Given the description of an element on the screen output the (x, y) to click on. 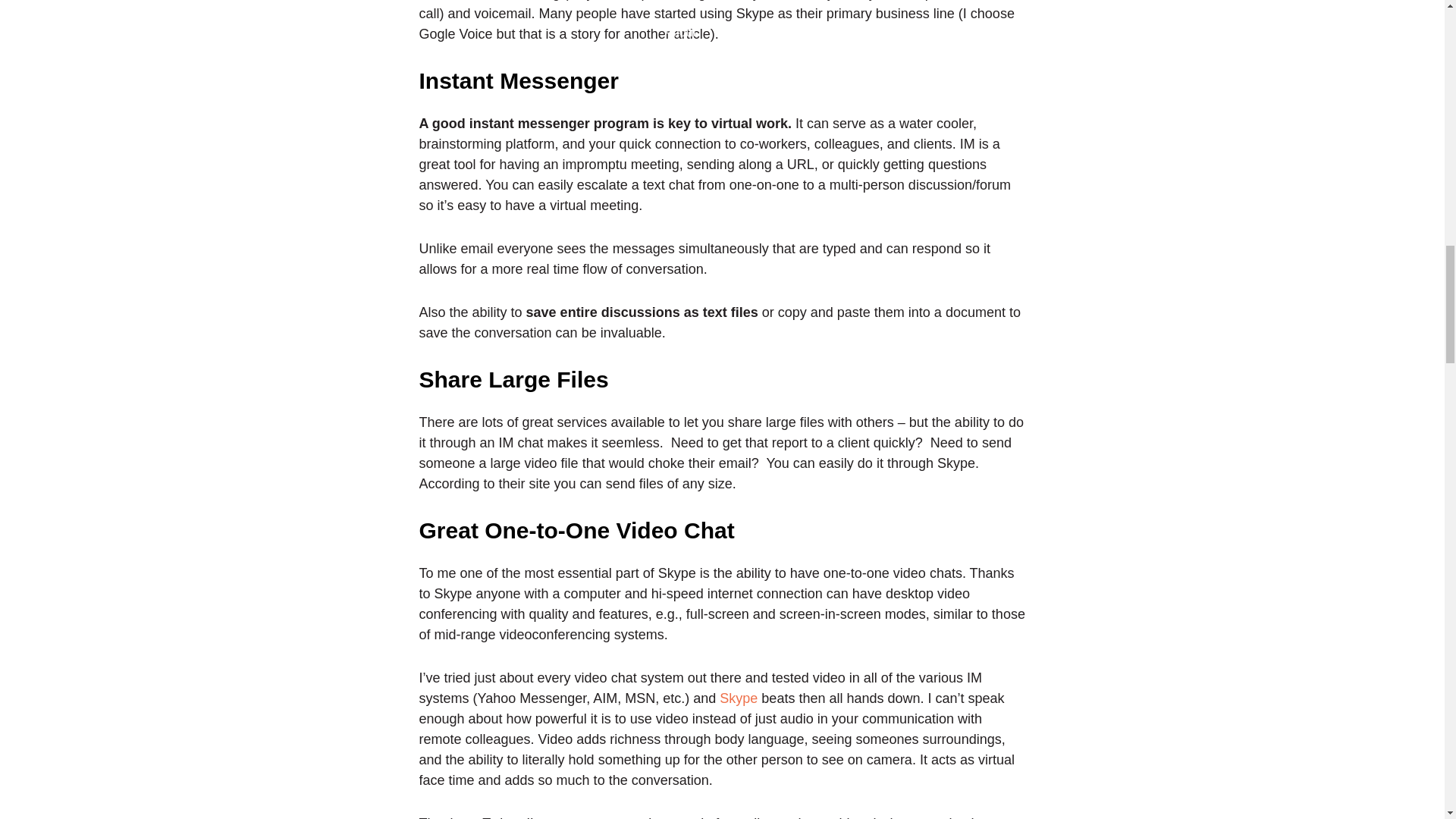
Skype (738, 698)
